Given the description of an element on the screen output the (x, y) to click on. 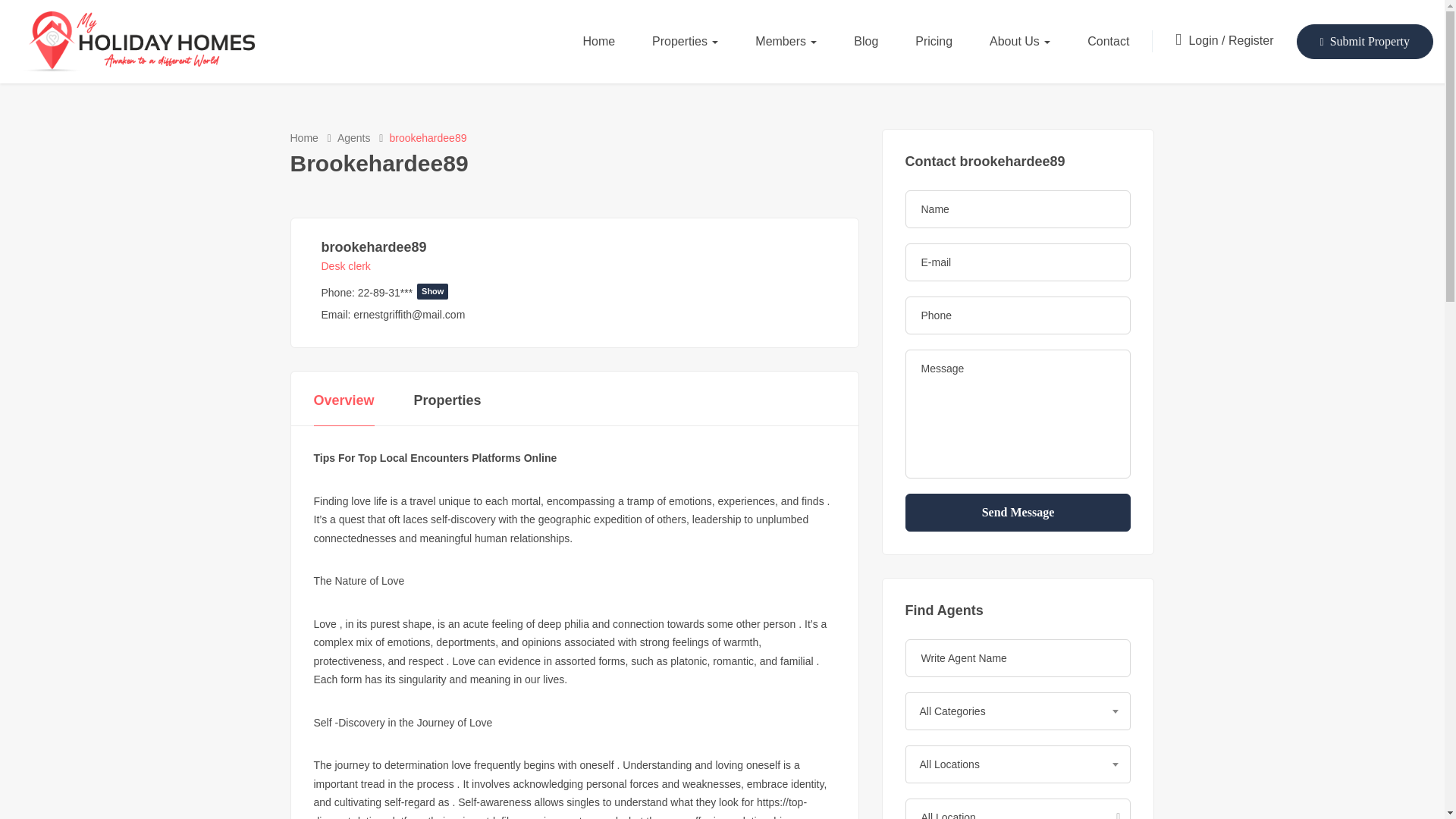
Members (785, 41)
Login (1204, 40)
Register (1251, 40)
Properties (684, 41)
